Given the description of an element on the screen output the (x, y) to click on. 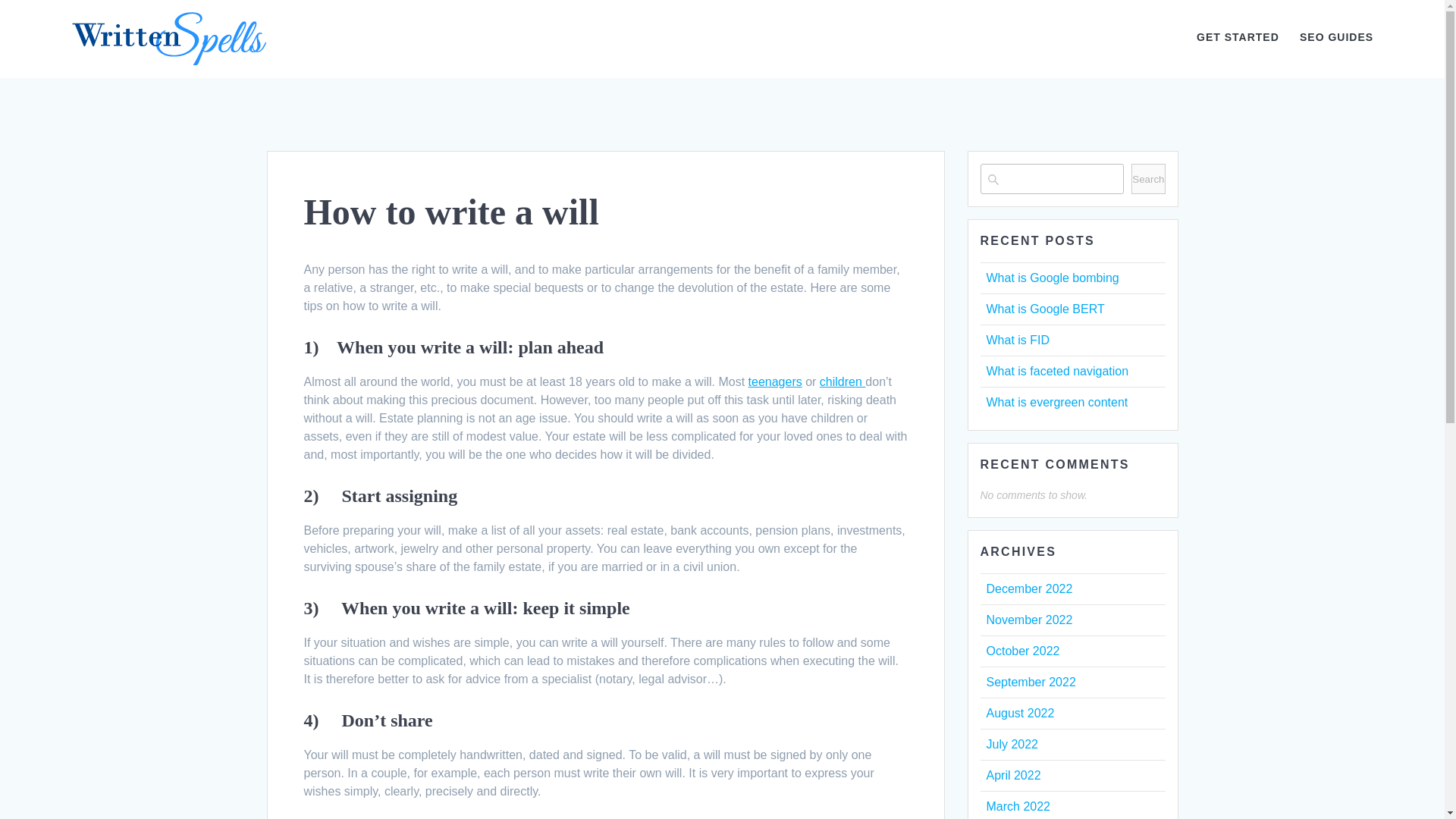
March 2022 (1017, 806)
children (841, 381)
September 2022 (1030, 681)
December 2022 (1028, 588)
October 2022 (1022, 650)
What is Google bombing (1051, 277)
What is FID (1017, 339)
April 2022 (1013, 775)
teenagers (775, 381)
What is Google BERT (1044, 308)
What is evergreen content (1055, 401)
November 2022 (1028, 619)
July 2022 (1011, 744)
SEO GUIDES (1336, 37)
Search (1147, 178)
